Given the description of an element on the screen output the (x, y) to click on. 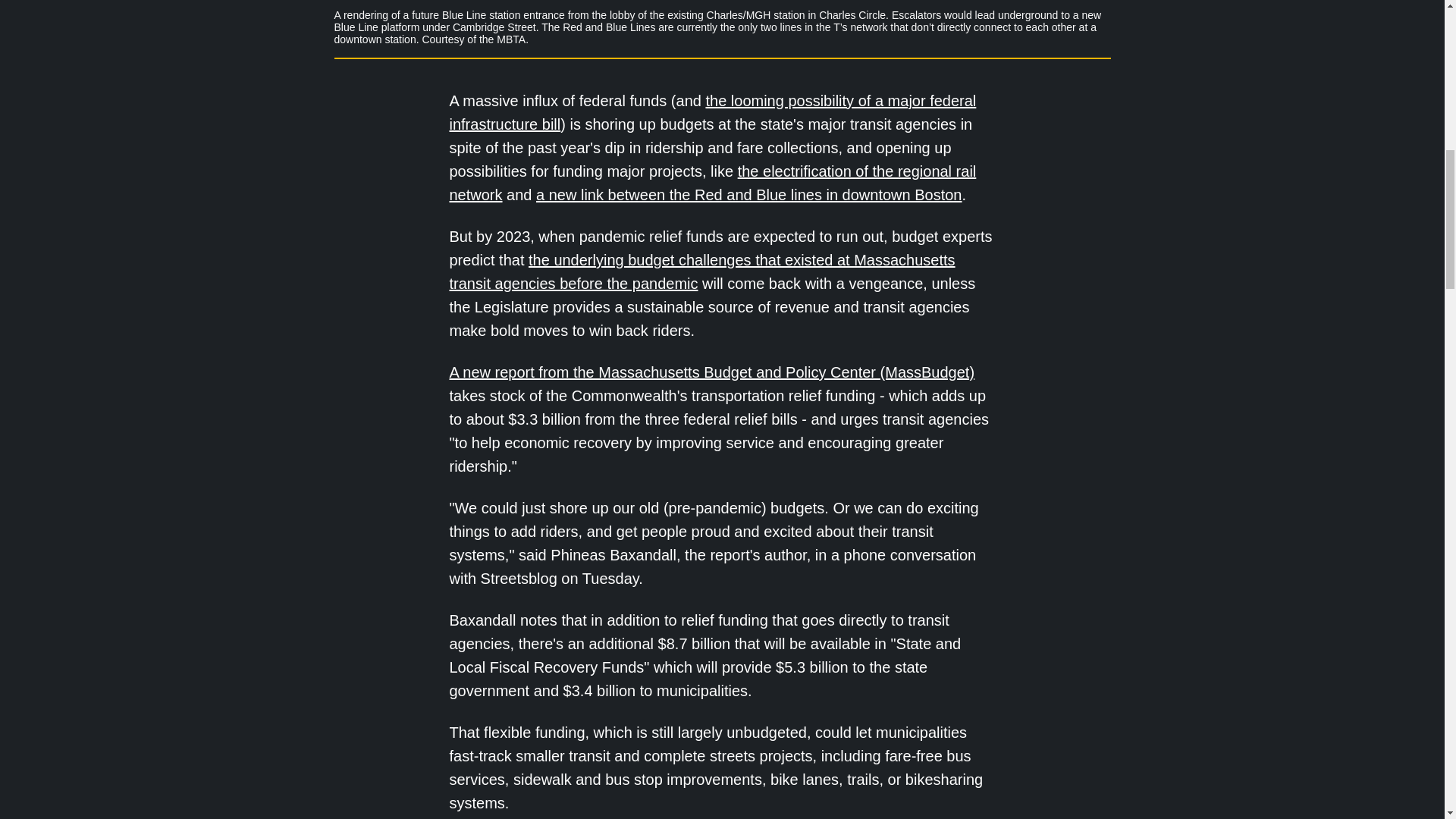
a new link between the Red and Blue lines in downtown Boston (747, 194)
the electrification of the regional rail network (711, 182)
